Given the description of an element on the screen output the (x, y) to click on. 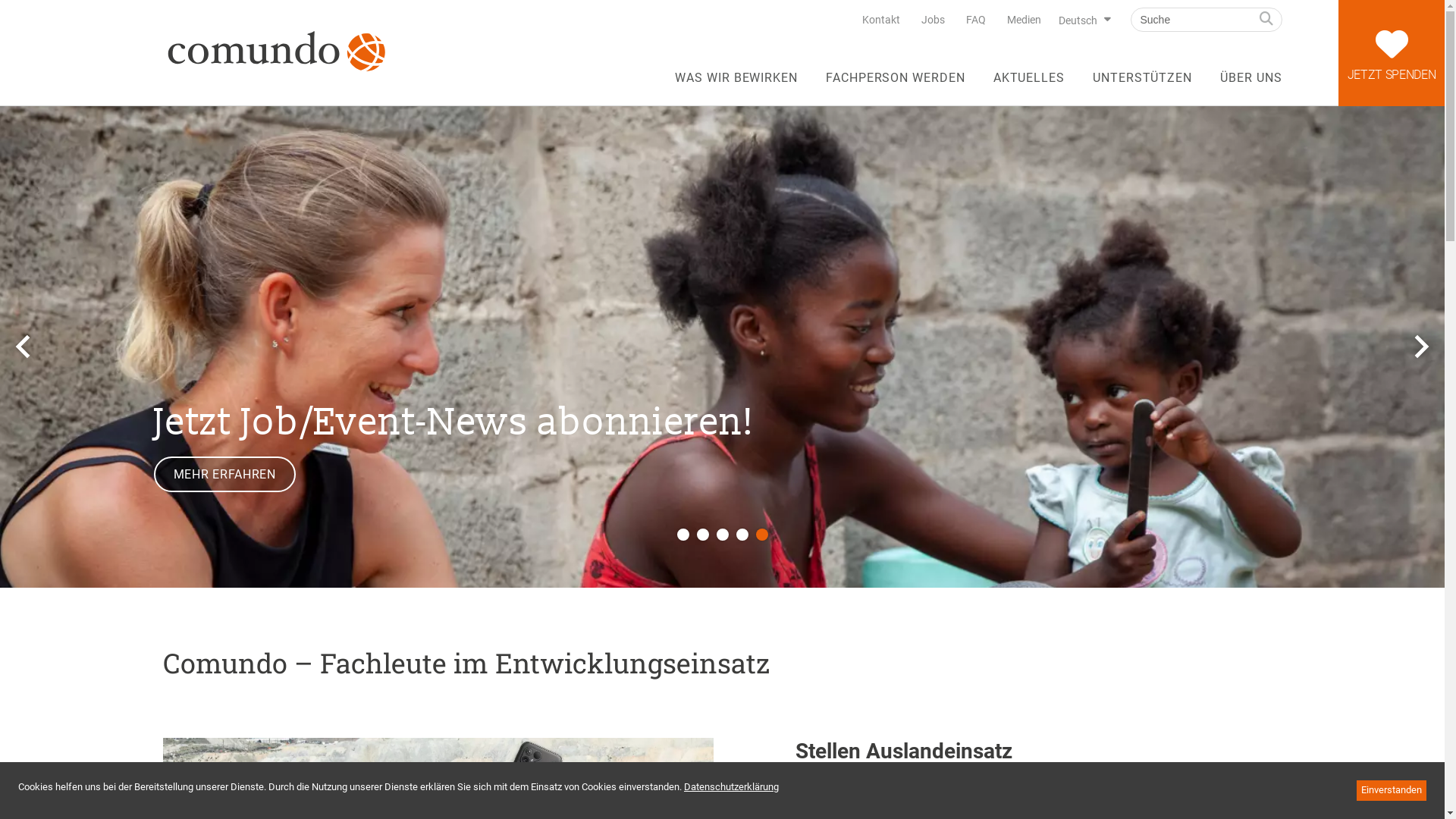
3 Element type: text (721, 534)
2 Element type: text (702, 534)
JETZT SPENDEN Element type: text (1391, 53)
Deutsch Element type: text (1082, 20)
1 Element type: text (682, 534)
AKTUELLES Element type: text (1029, 84)
Medien Element type: text (1023, 19)
Kontakt Element type: text (879, 19)
FACHPERSON WERDEN Element type: text (895, 84)
Prev Element type: text (22, 346)
Next Element type: text (1421, 346)
WAS WIR BEWIRKEN Element type: text (735, 84)
MEHR ERFAHREN Element type: text (223, 474)
FAQ Element type: text (975, 19)
Jobs Element type: text (932, 19)
5 Element type: text (761, 534)
4 Element type: text (741, 534)
